Given the description of an element on the screen output the (x, y) to click on. 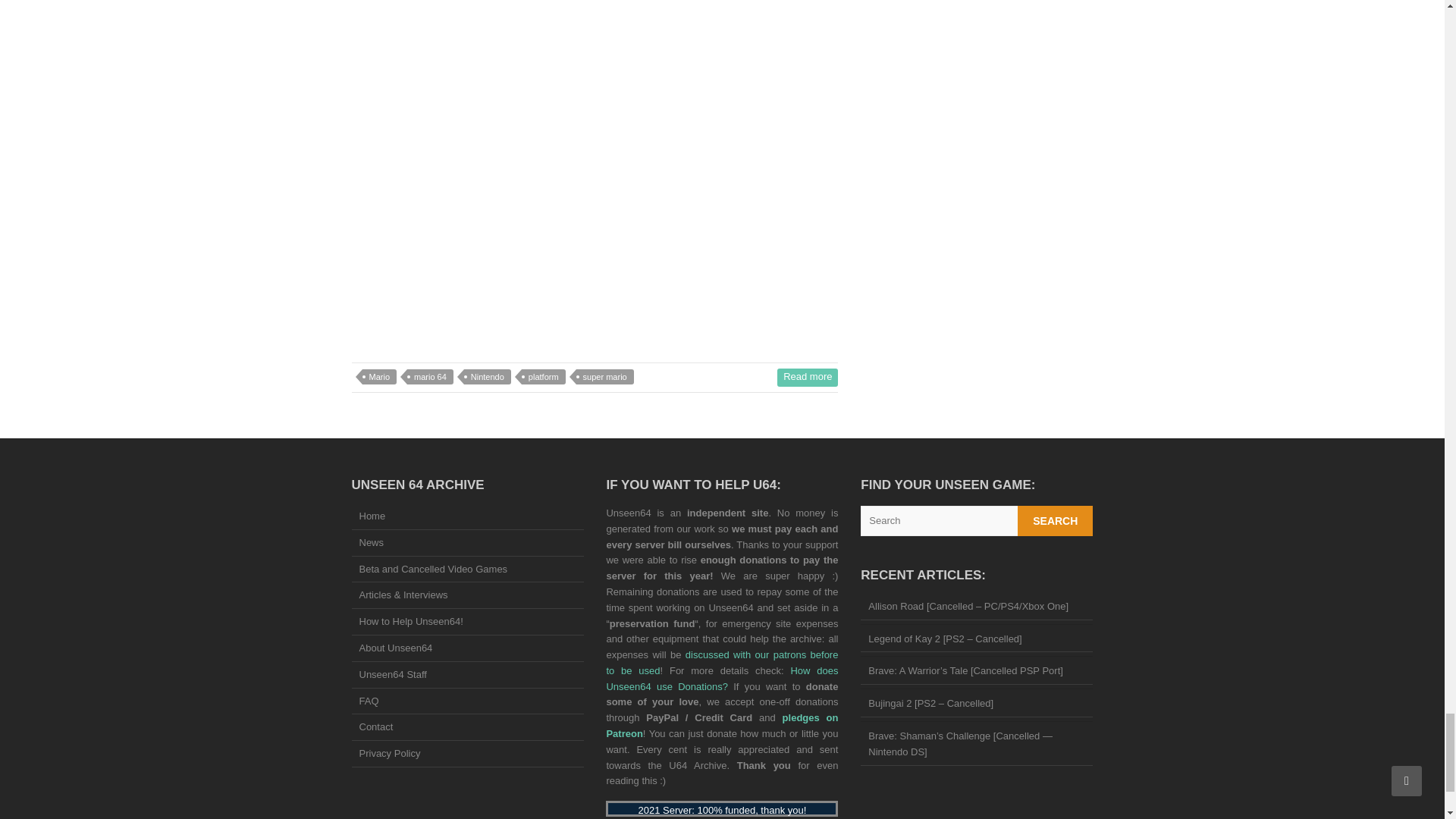
Search (1055, 521)
Mario (379, 376)
mario 64 (429, 376)
Search (1055, 521)
